Given the description of an element on the screen output the (x, y) to click on. 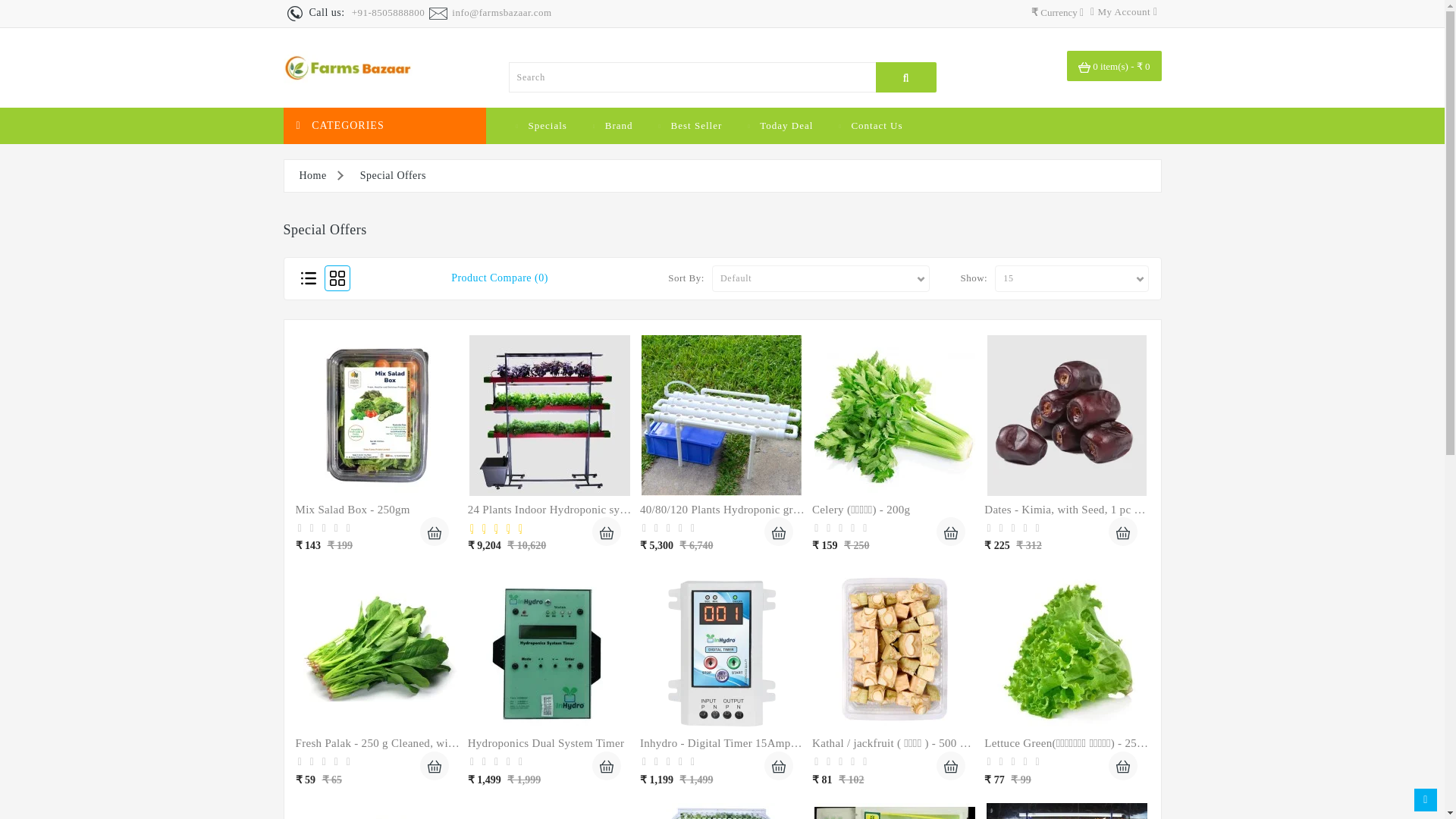
My Account (1123, 11)
CATEGORIES (384, 125)
My Account  (1123, 11)
Farmsbazaar.com (347, 67)
Mix Salad Box - 250gm (377, 415)
24 Plants Indoor Hydroponic system   (549, 415)
